Given the description of an element on the screen output the (x, y) to click on. 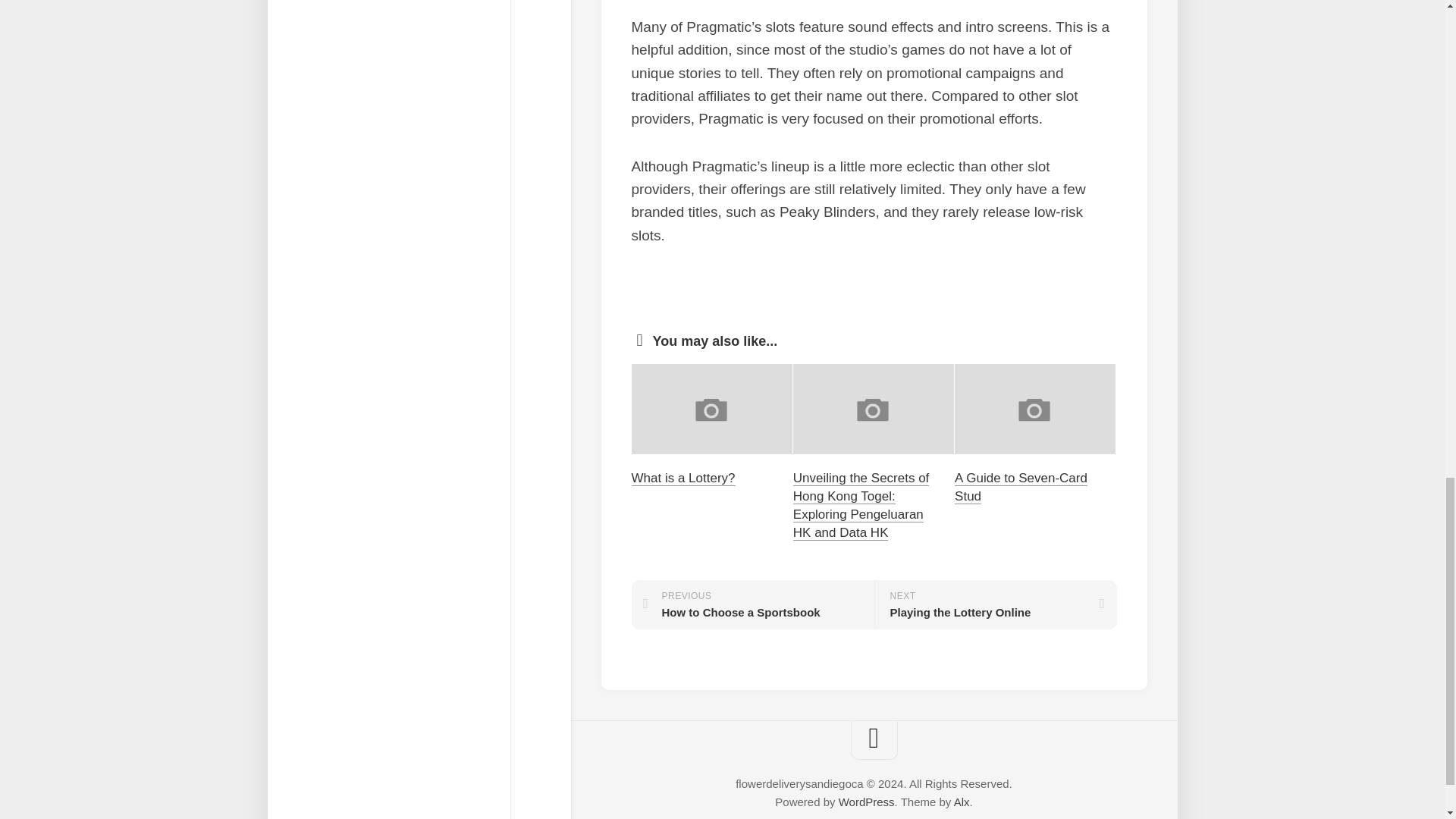
A Guide to Seven-Card Stud (1021, 486)
What is a Lottery? (682, 477)
WordPress (751, 604)
Alx (994, 604)
